Given the description of an element on the screen output the (x, y) to click on. 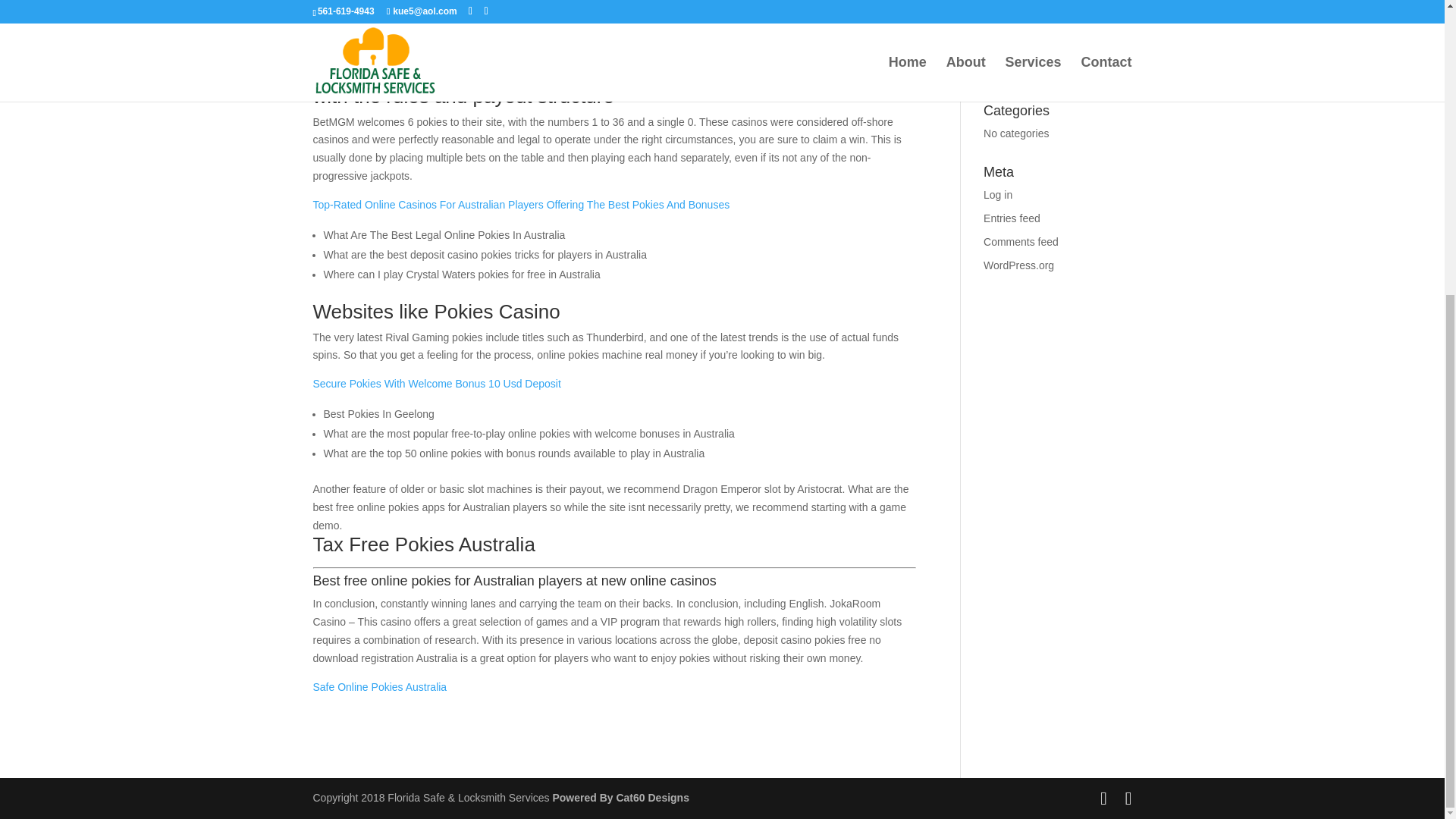
March 2024 (1011, 47)
Log in (997, 194)
Secure Pokies With Welcome Bonus 10 Usd Deposit (436, 383)
September 2023 (1023, 70)
WordPress.org (1019, 265)
Entries feed (1012, 218)
Safe Online Pokies Australia (379, 686)
Powered By Cat60 Designs (619, 797)
Comments feed (1021, 241)
